Given the description of an element on the screen output the (x, y) to click on. 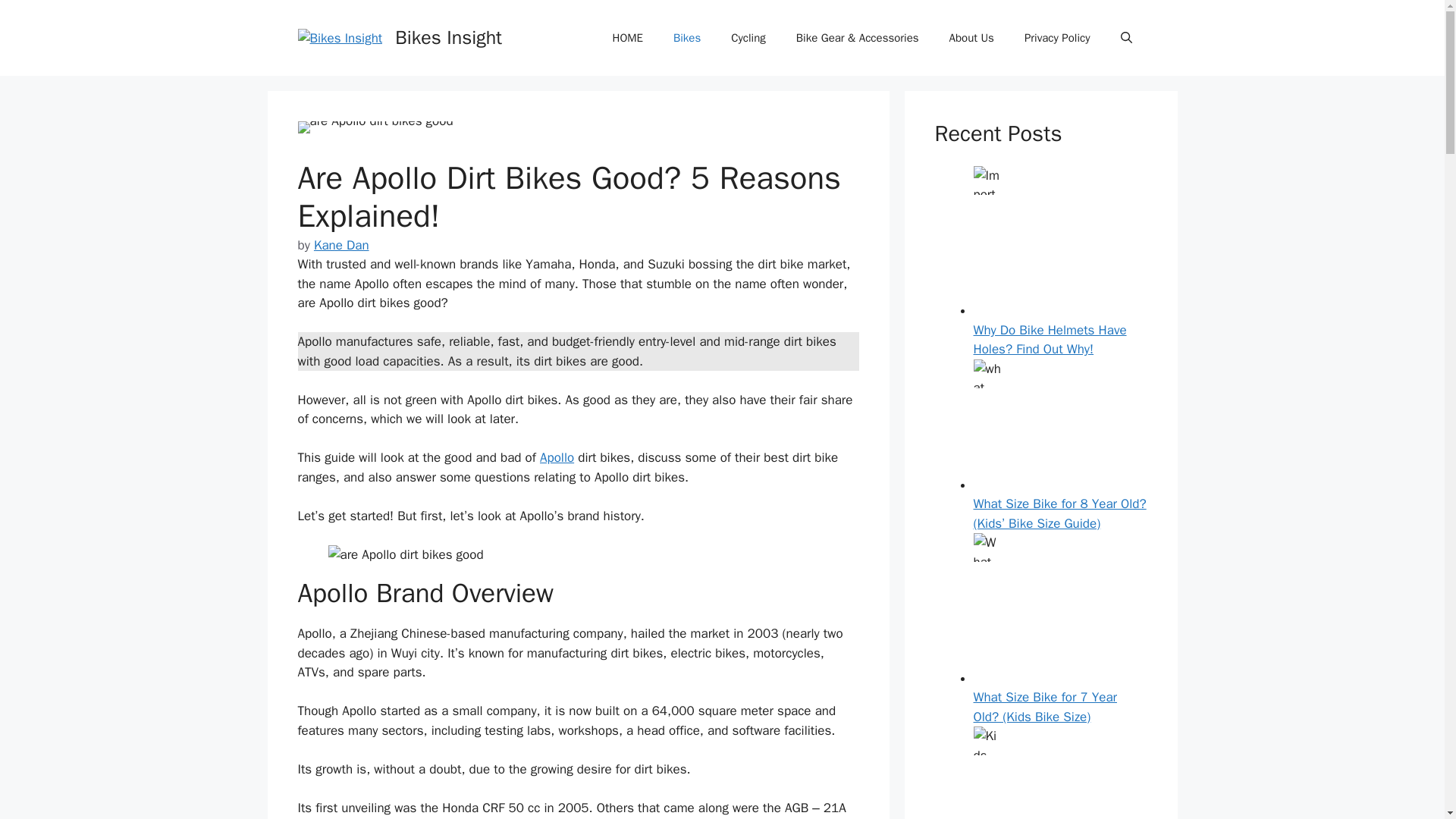
Cycling (748, 37)
Kane Dan (341, 245)
Bikes (687, 37)
View all posts by Kane Dan (341, 245)
Why Do Bike Helmets Have Holes? Find Out Why! (1050, 339)
HOME (627, 37)
About Us (971, 37)
Bikes Insight (448, 37)
Apollo (556, 457)
Privacy Policy (1057, 37)
